Given the description of an element on the screen output the (x, y) to click on. 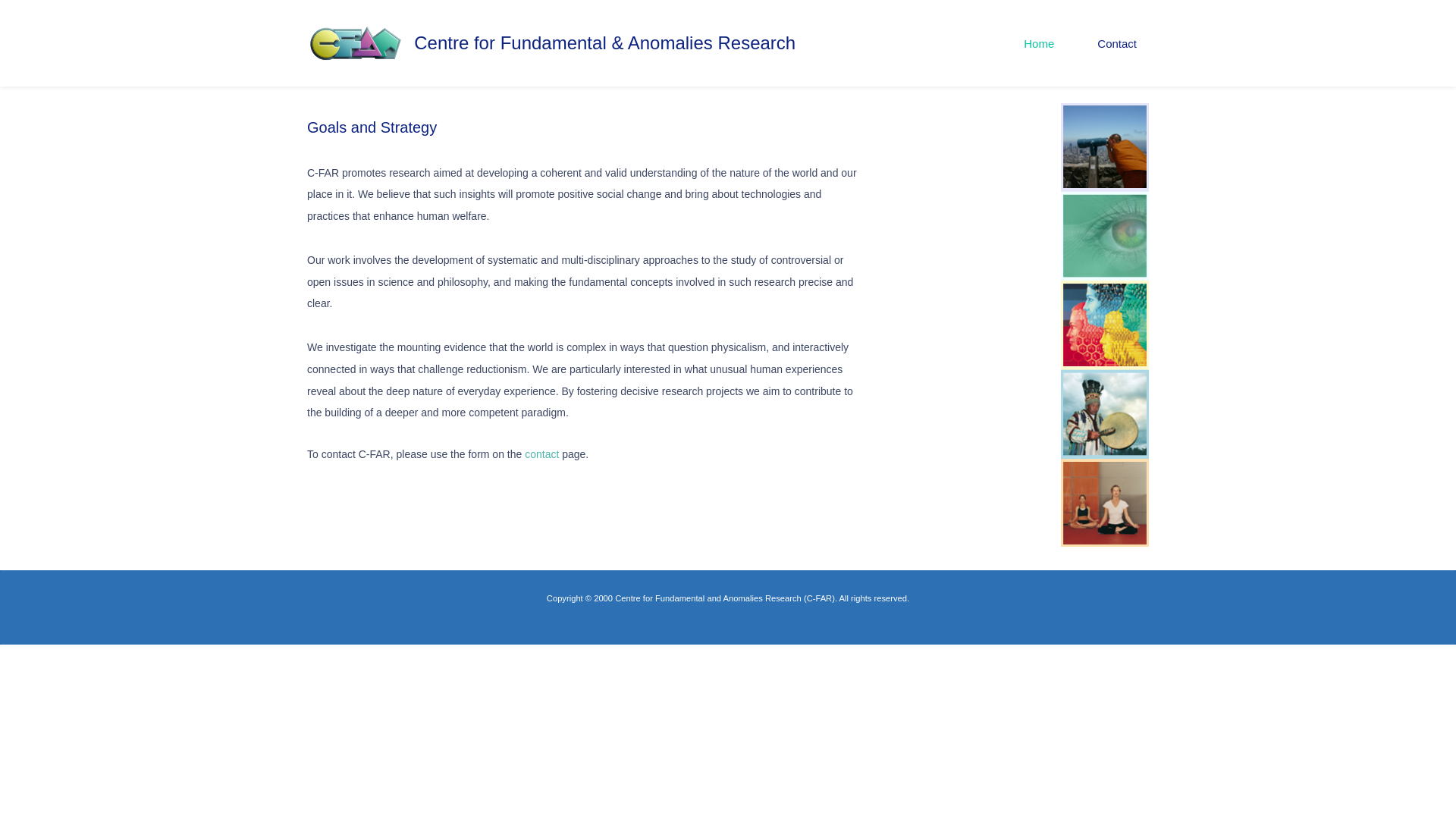
Home (1038, 43)
contact (541, 453)
Contact (1116, 43)
contact (541, 453)
